Given the description of an element on the screen output the (x, y) to click on. 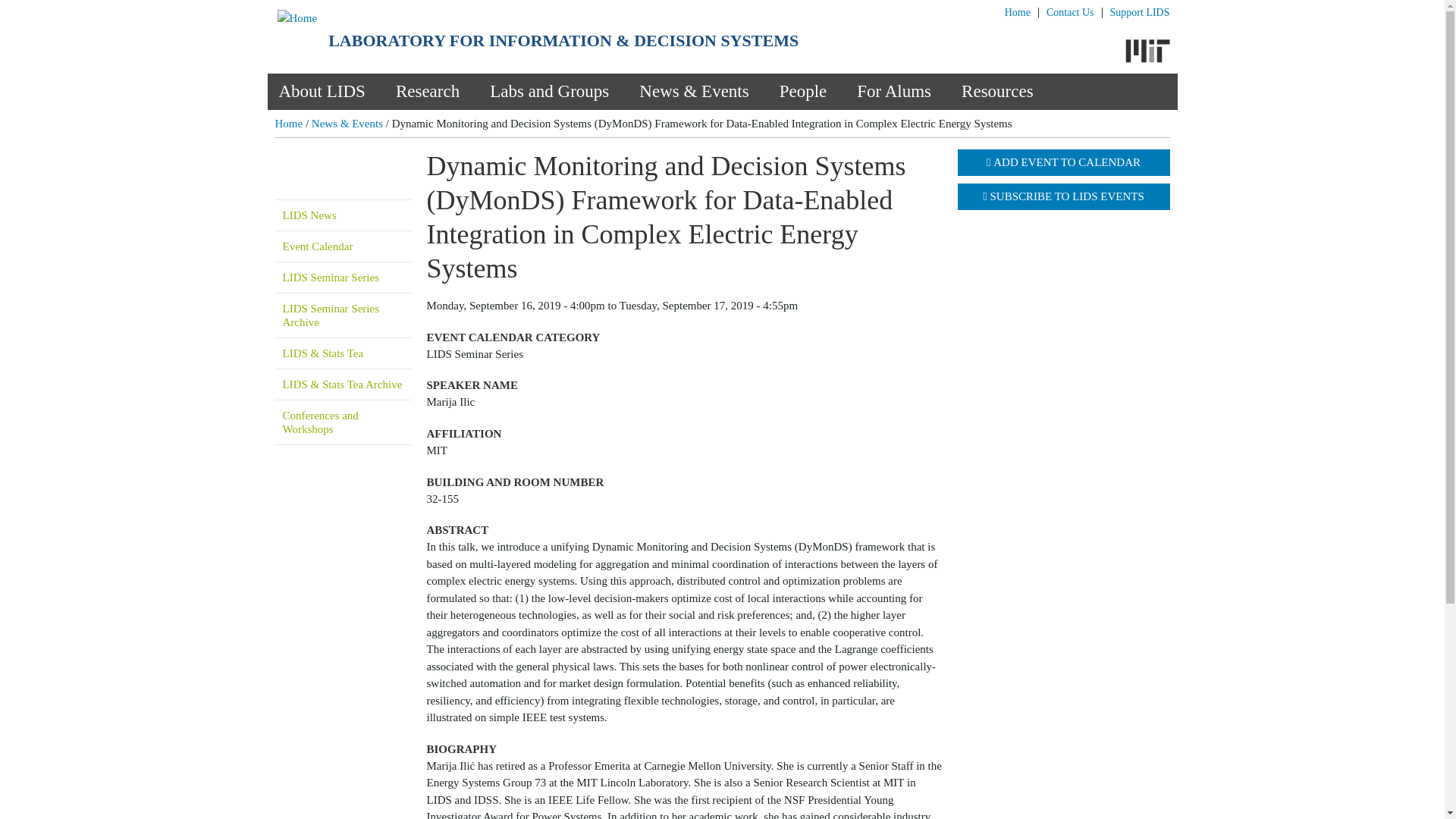
Home (1017, 12)
Home (297, 18)
Research (428, 91)
Support LIDS (1139, 12)
Labs and Groups (548, 91)
About LIDS (322, 91)
Contact Us (1070, 12)
